Given the description of an element on the screen output the (x, y) to click on. 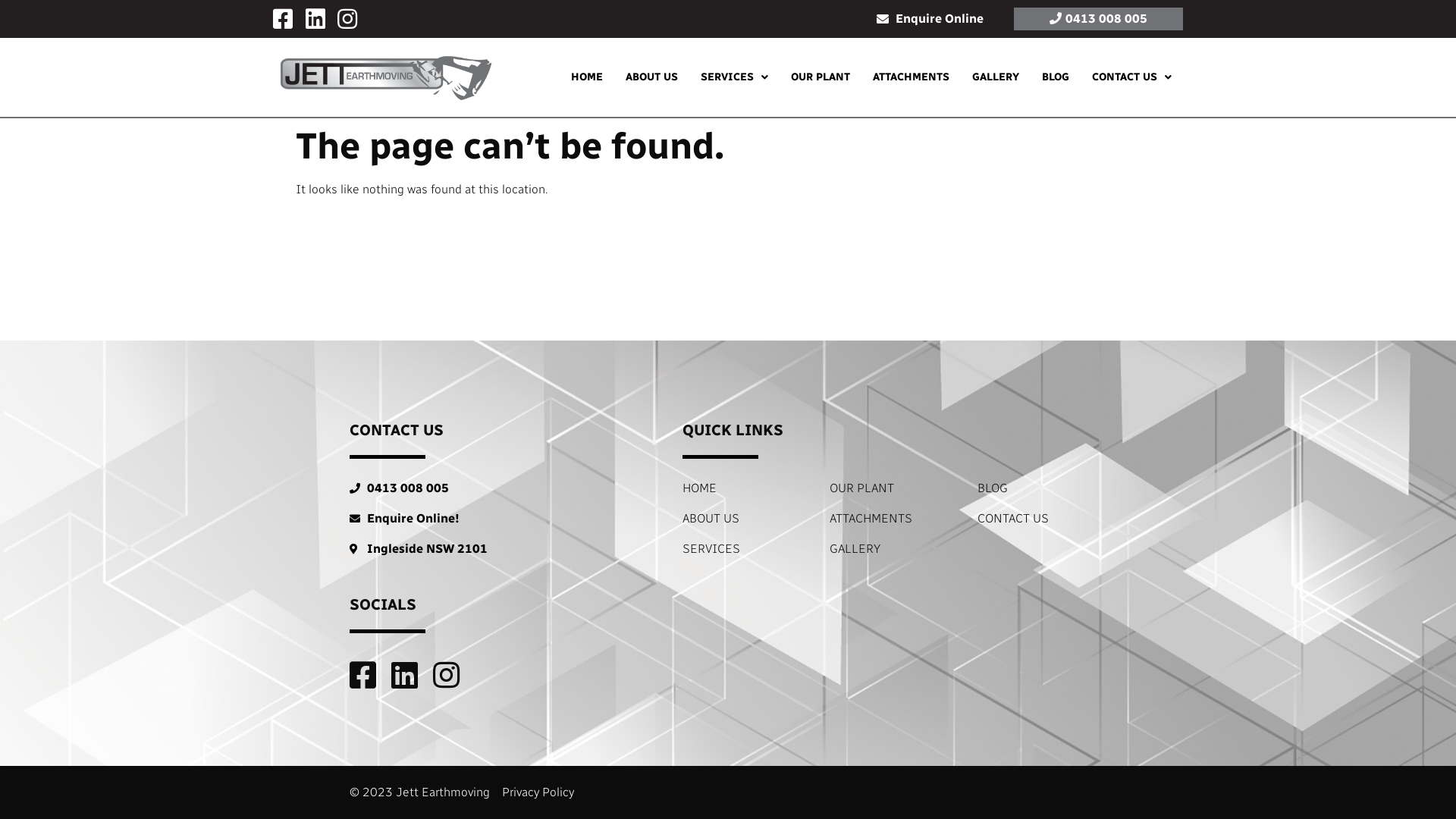
ATTACHMENTS Element type: text (910, 76)
SERVICES Element type: text (734, 76)
GALLERY Element type: text (893, 548)
CONTACT US Element type: text (1131, 76)
Enquire Online! Element type: text (499, 518)
0413 008 005 Element type: text (499, 488)
GALLERY Element type: text (995, 76)
BLOG Element type: text (1041, 488)
HOME Element type: text (586, 76)
0413 008 005 Element type: text (1098, 18)
Privacy Policy Element type: text (538, 792)
BLOG Element type: text (1055, 76)
OUR PLANT Element type: text (820, 76)
HOME Element type: text (746, 488)
Enquire Online Element type: text (929, 18)
ATTACHMENTS Element type: text (893, 518)
ABOUT US Element type: text (651, 76)
SERVICES Element type: text (746, 548)
CONTACT US Element type: text (1041, 518)
Ingleside NSW 2101 Element type: text (499, 548)
ABOUT US Element type: text (746, 518)
OUR PLANT Element type: text (893, 488)
